Given the description of an element on the screen output the (x, y) to click on. 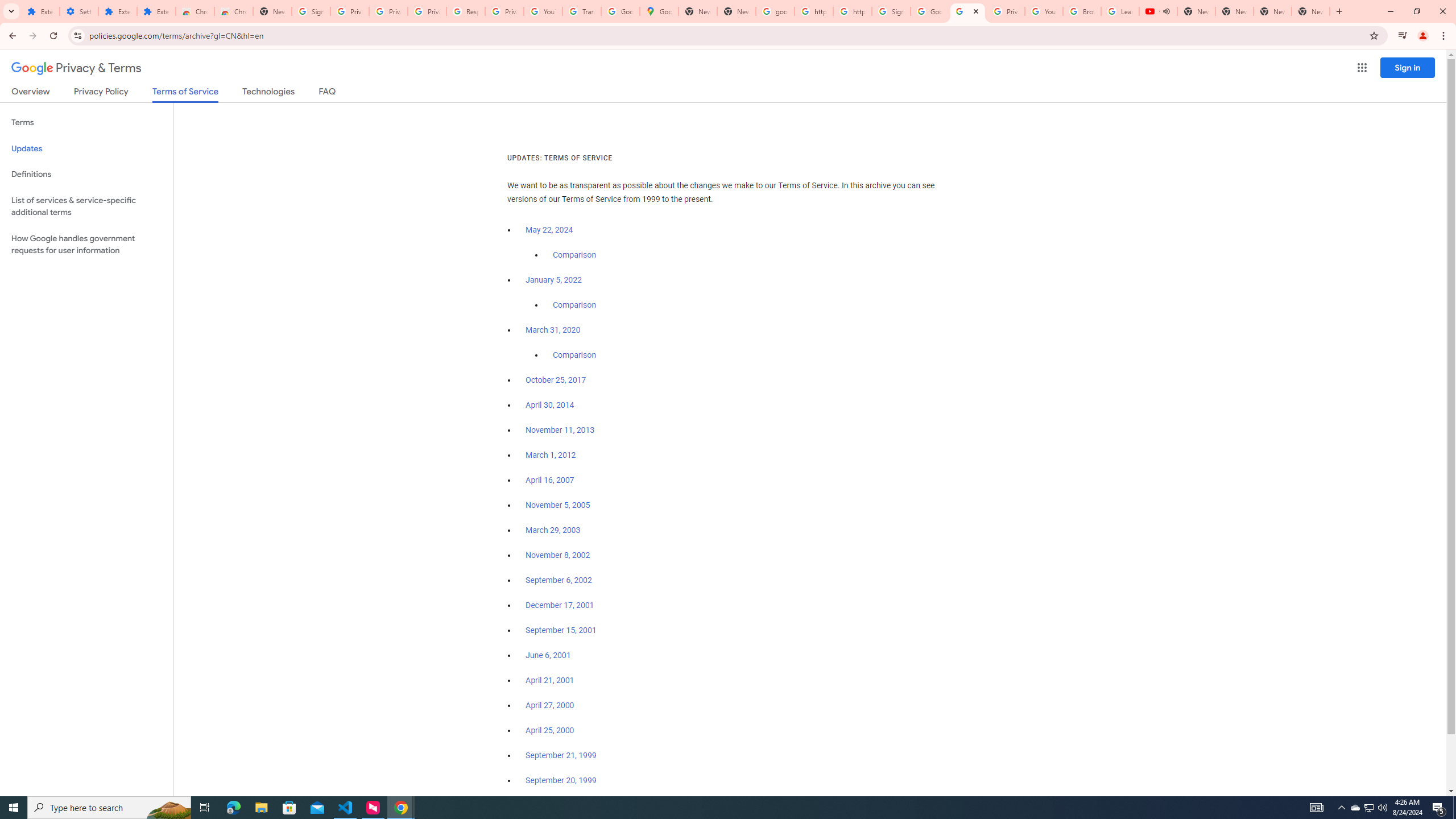
Sign in - Google Accounts (310, 11)
May 22, 2024 (549, 230)
Terms (86, 122)
How Google handles government requests for user information (86, 244)
YouTube (542, 11)
New Tab (272, 11)
June 6, 2001 (547, 655)
Definitions (86, 174)
Extensions (40, 11)
